Given the description of an element on the screen output the (x, y) to click on. 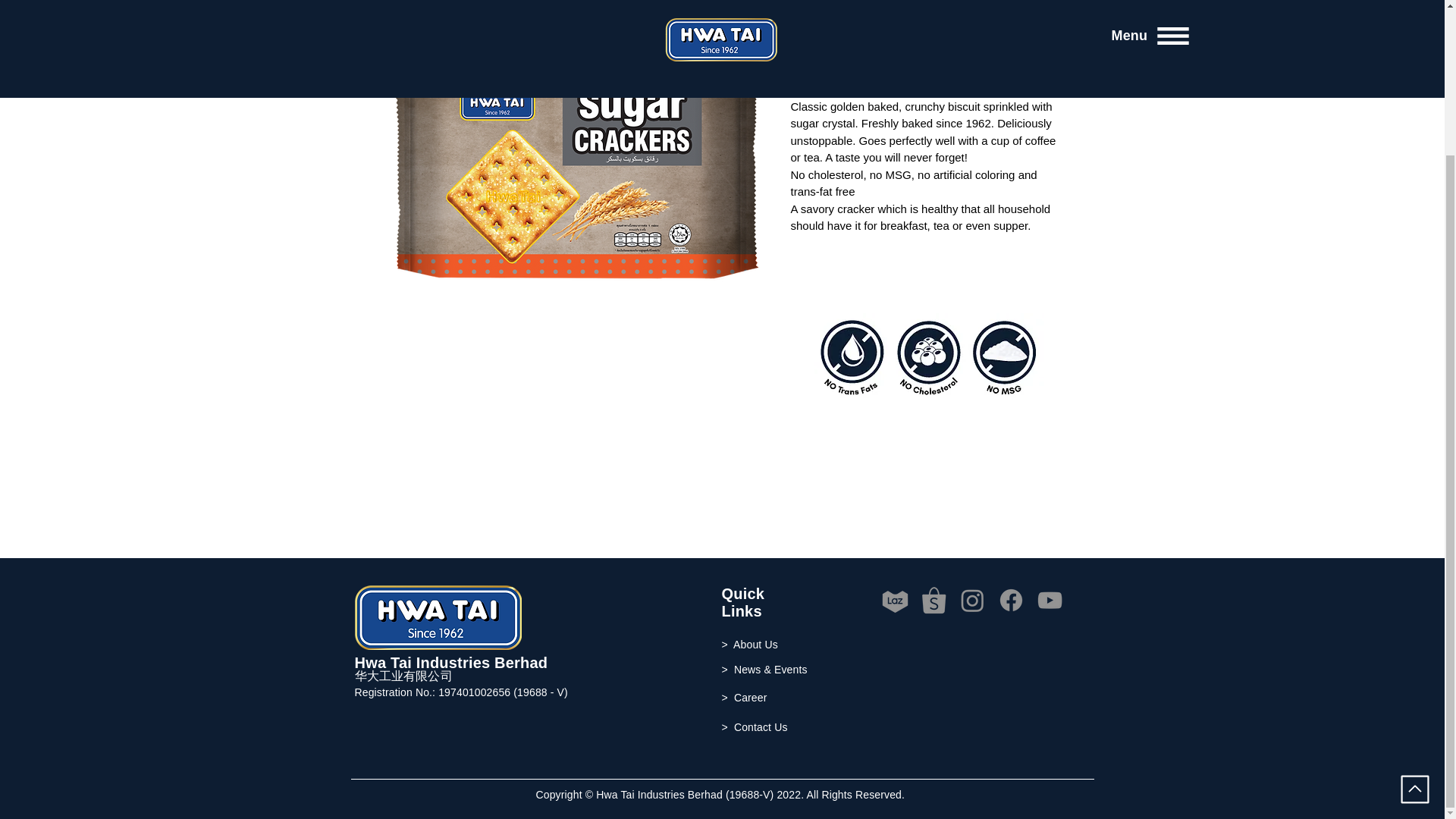
DESCRIPTION (924, 75)
